Given the description of an element on the screen output the (x, y) to click on. 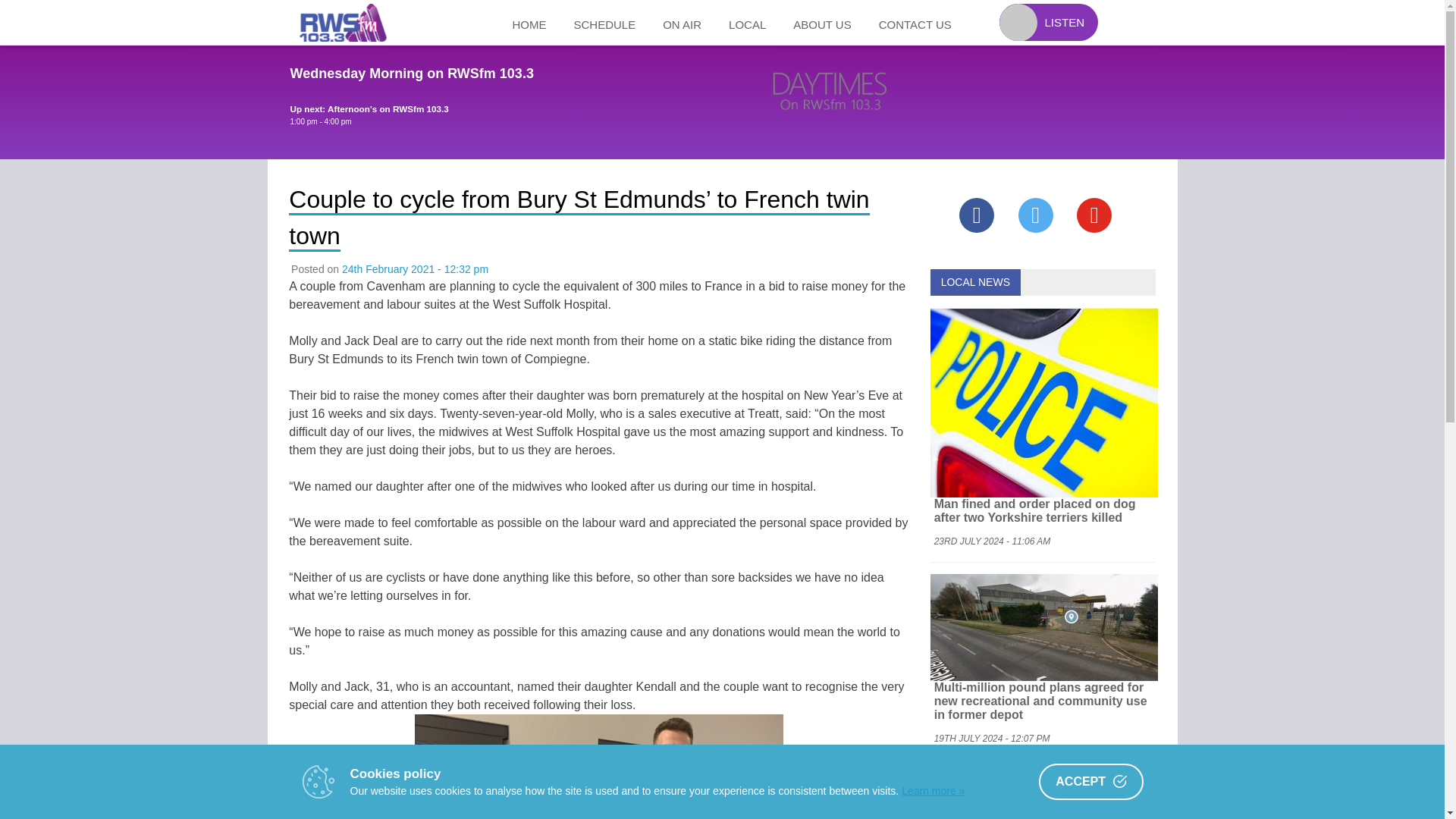
24th February 2021 - 12:32 pm (414, 268)
Wednesday Morning on RWSfm 103.3 (410, 73)
CONTACT US (914, 22)
12:32 pm (414, 268)
ON AIR (681, 22)
ABOUT US (821, 22)
LOCAL (746, 22)
HOME (529, 22)
SCHEDULE (604, 22)
